Given the description of an element on the screen output the (x, y) to click on. 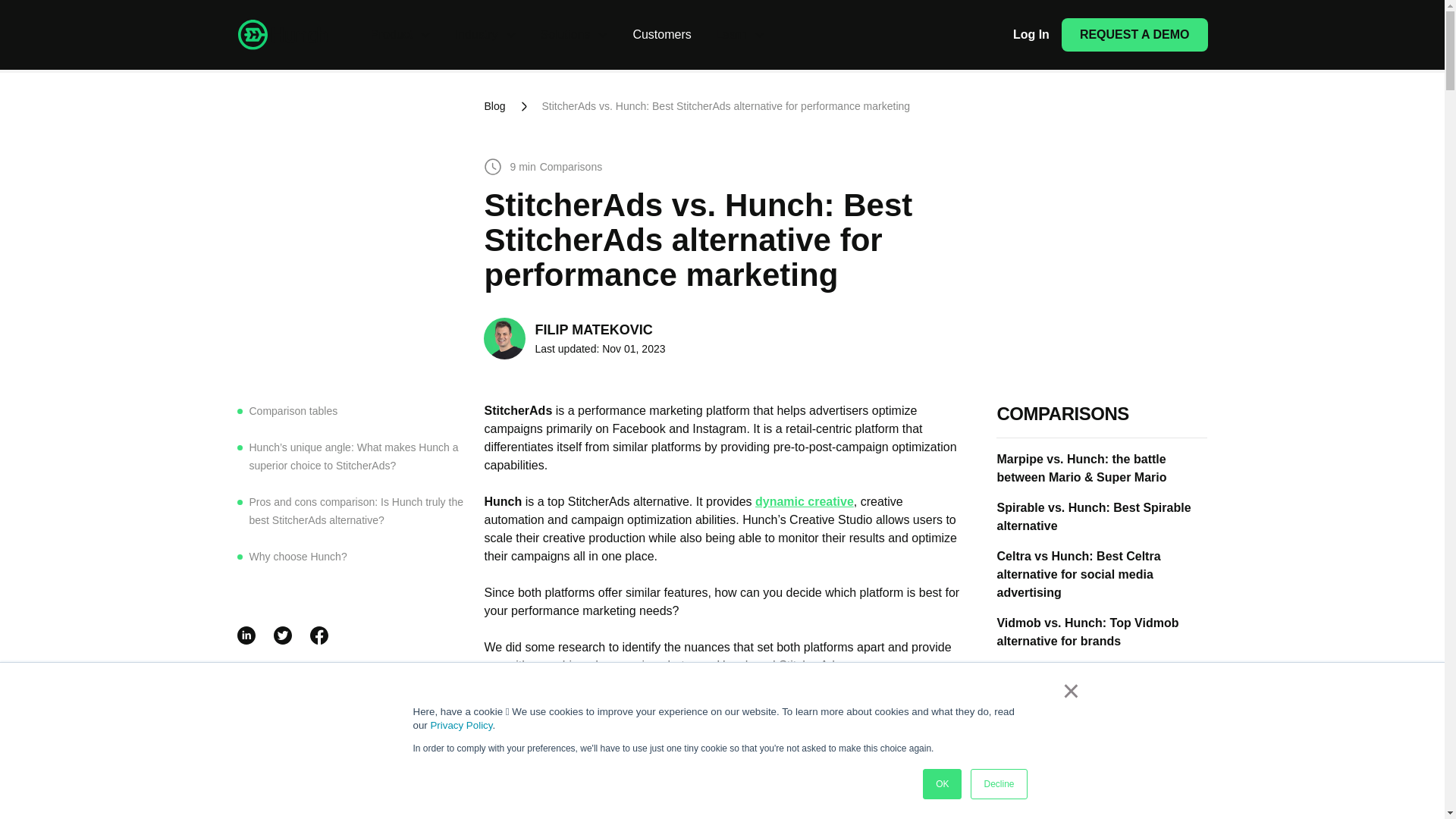
Customers (660, 34)
Privacy Policy (460, 725)
OK (941, 784)
Decline (998, 784)
